Given the description of an element on the screen output the (x, y) to click on. 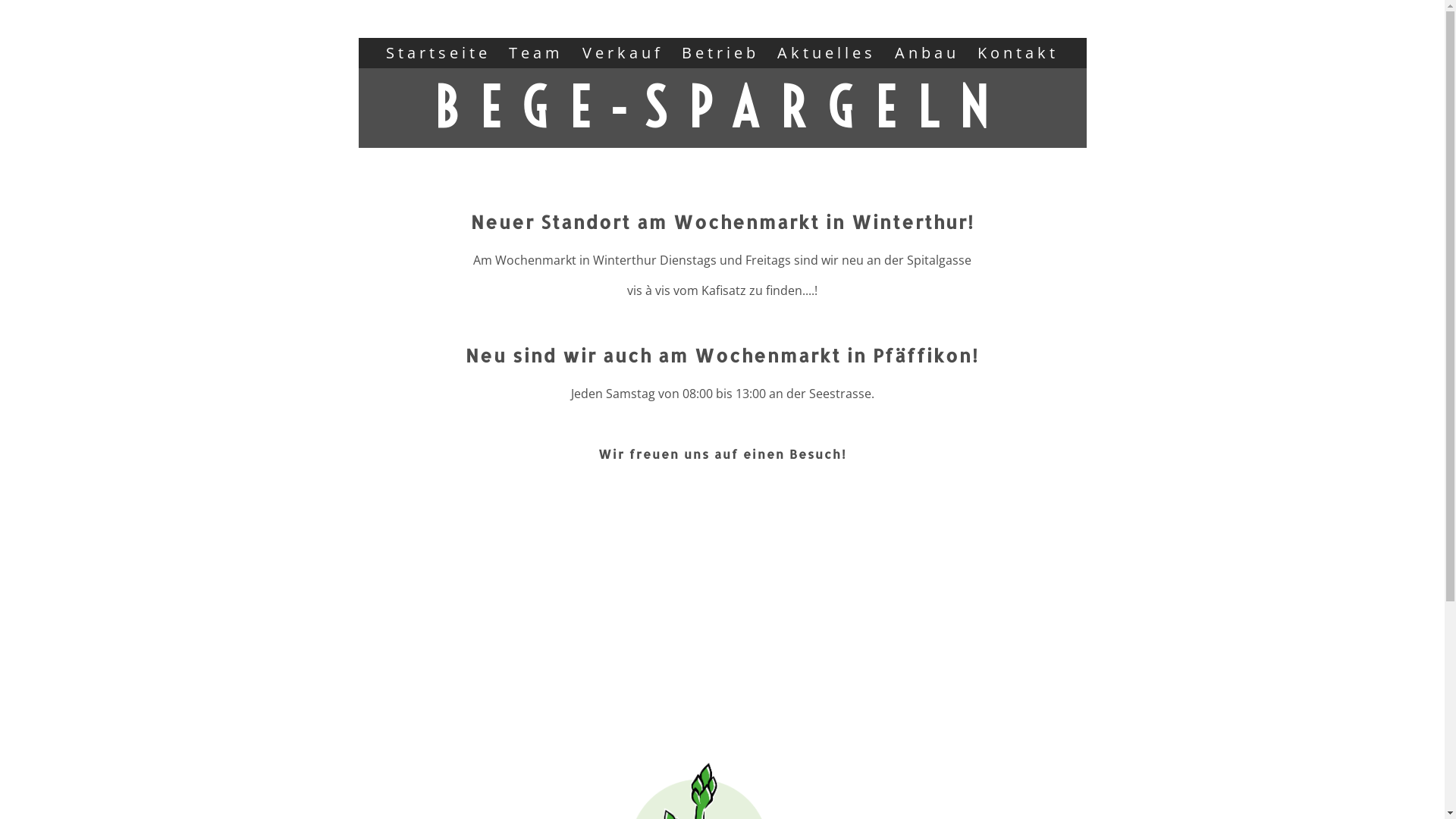
Anbau Element type: text (926, 52)
Startseite Element type: text (437, 52)
Kontakt Element type: text (1017, 52)
Aktuelles Element type: text (826, 52)
BEGE-SPARGELN Element type: text (721, 108)
Verkauf Element type: text (622, 52)
Betrieb Element type: text (720, 52)
Team Element type: text (535, 52)
